Given the description of an element on the screen output the (x, y) to click on. 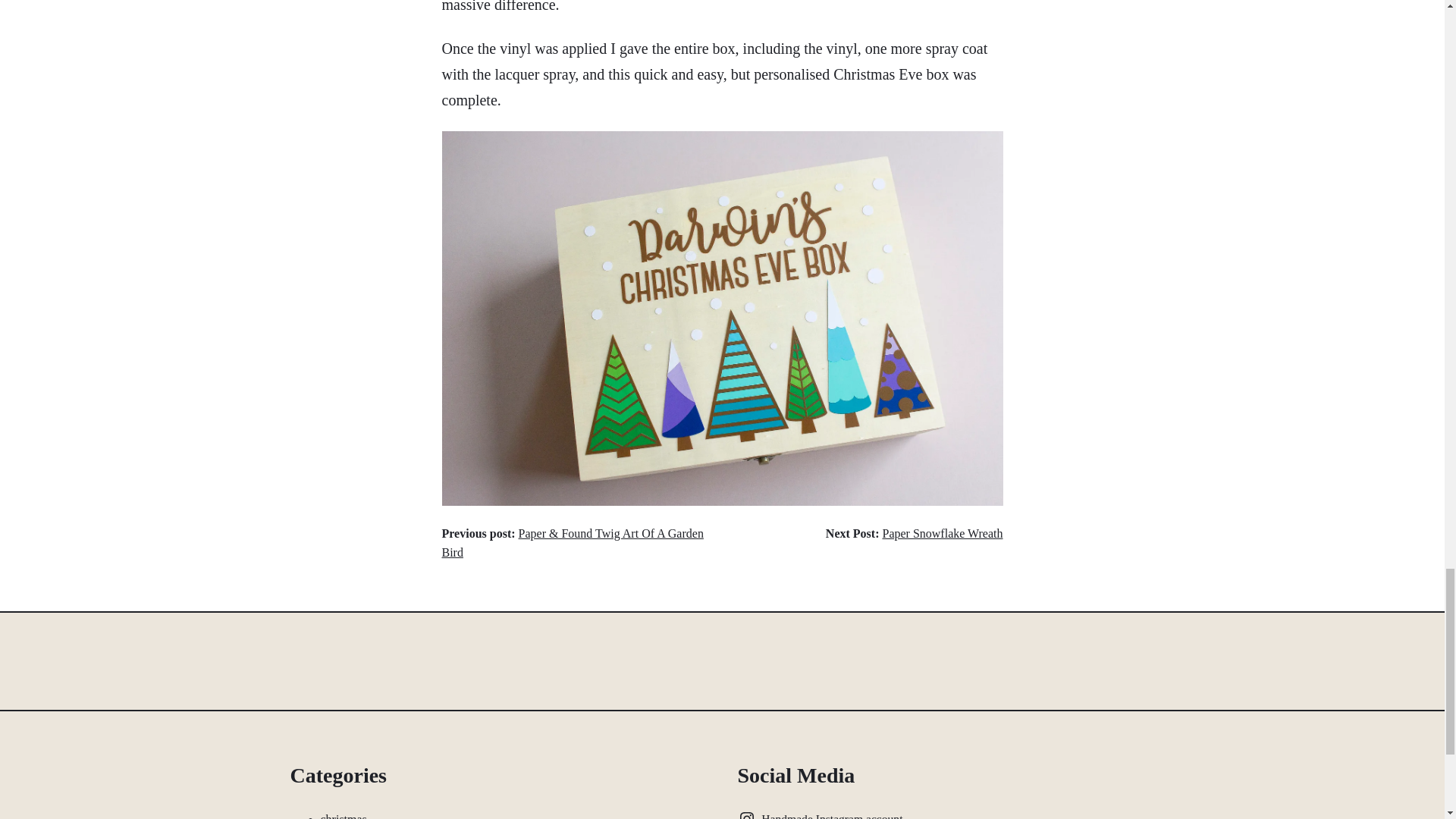
Paper Snowflake Wreath (942, 533)
Handmade Instagram account (822, 814)
christmas (343, 816)
